Given the description of an element on the screen output the (x, y) to click on. 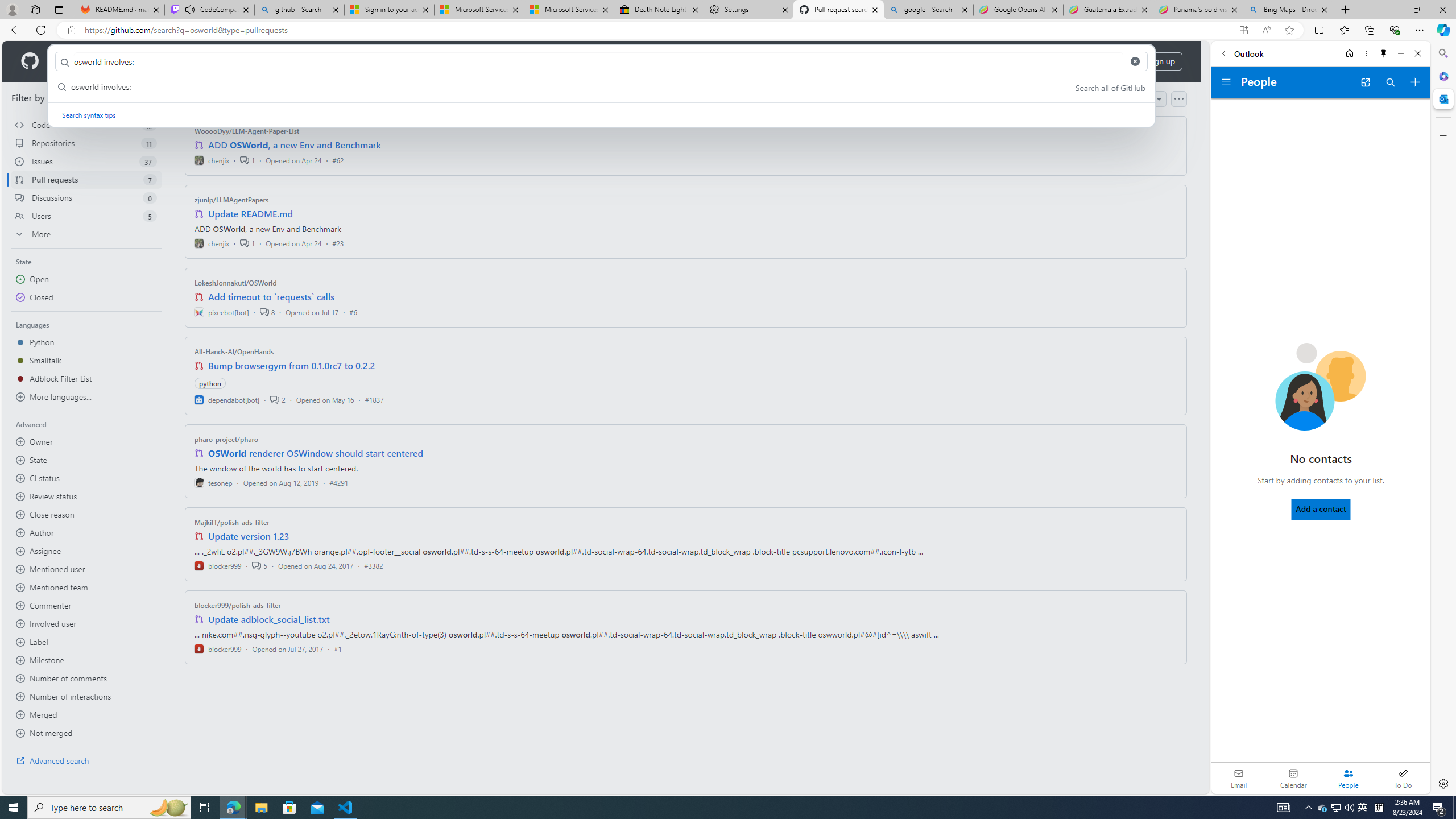
#62 (337, 159)
Open Source (254, 60)
#1837 (374, 398)
Open in new tab (1365, 82)
pharo-project/pharo (226, 438)
#1 (337, 648)
1 (246, 242)
#6 (352, 311)
Advanced search (86, 760)
